Given the description of an element on the screen output the (x, y) to click on. 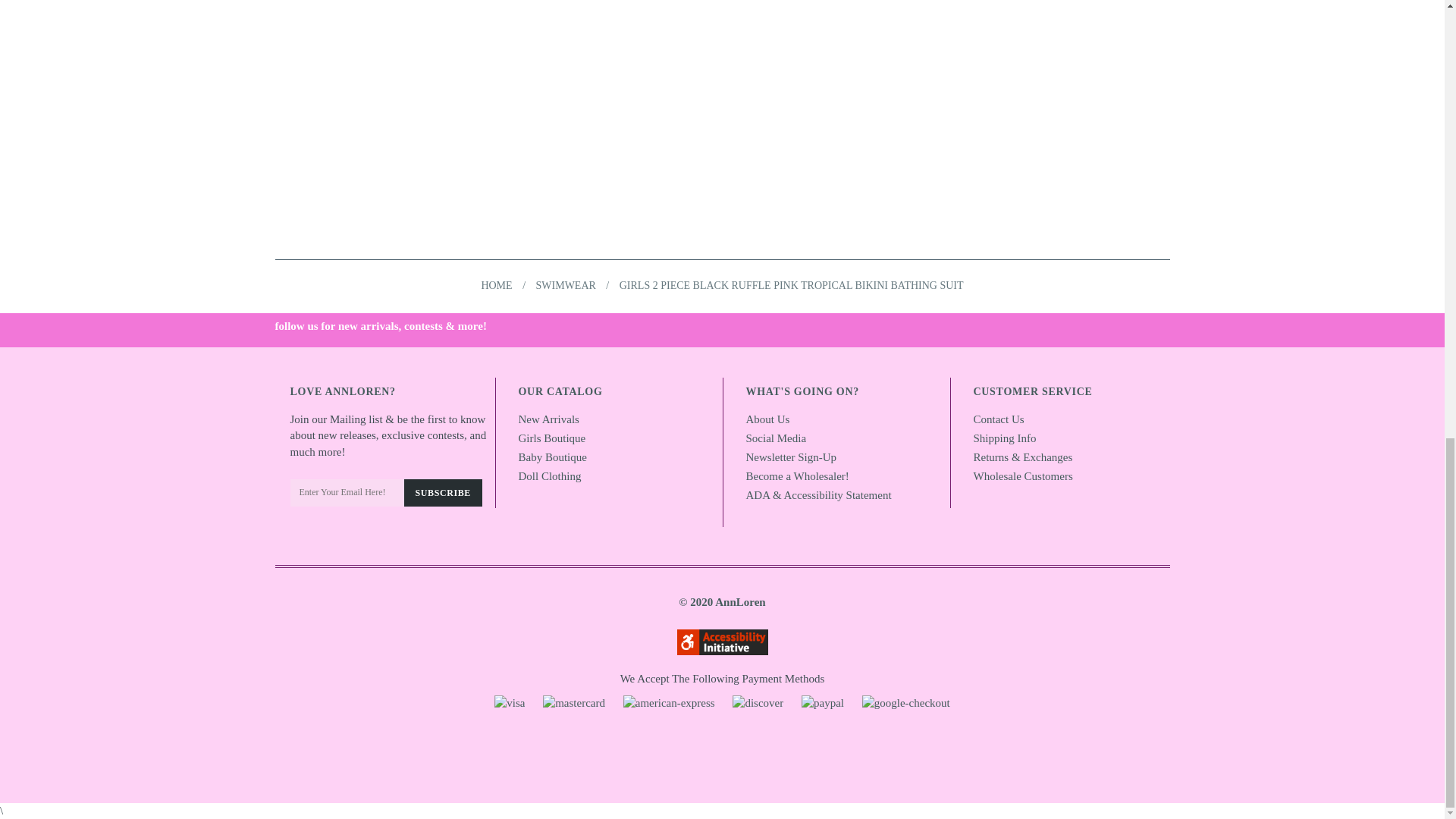
About Us (767, 419)
New Arrivals (548, 419)
Subscribe (442, 492)
Social Media (775, 438)
Back to the frontpage (496, 285)
Girls Boutique (552, 438)
Become a Wholesaler! (796, 476)
Baby Boutique (552, 457)
Doll Clothing (549, 476)
Contact Us (999, 419)
Newsletter Sign-Up (791, 457)
